Given the description of an element on the screen output the (x, y) to click on. 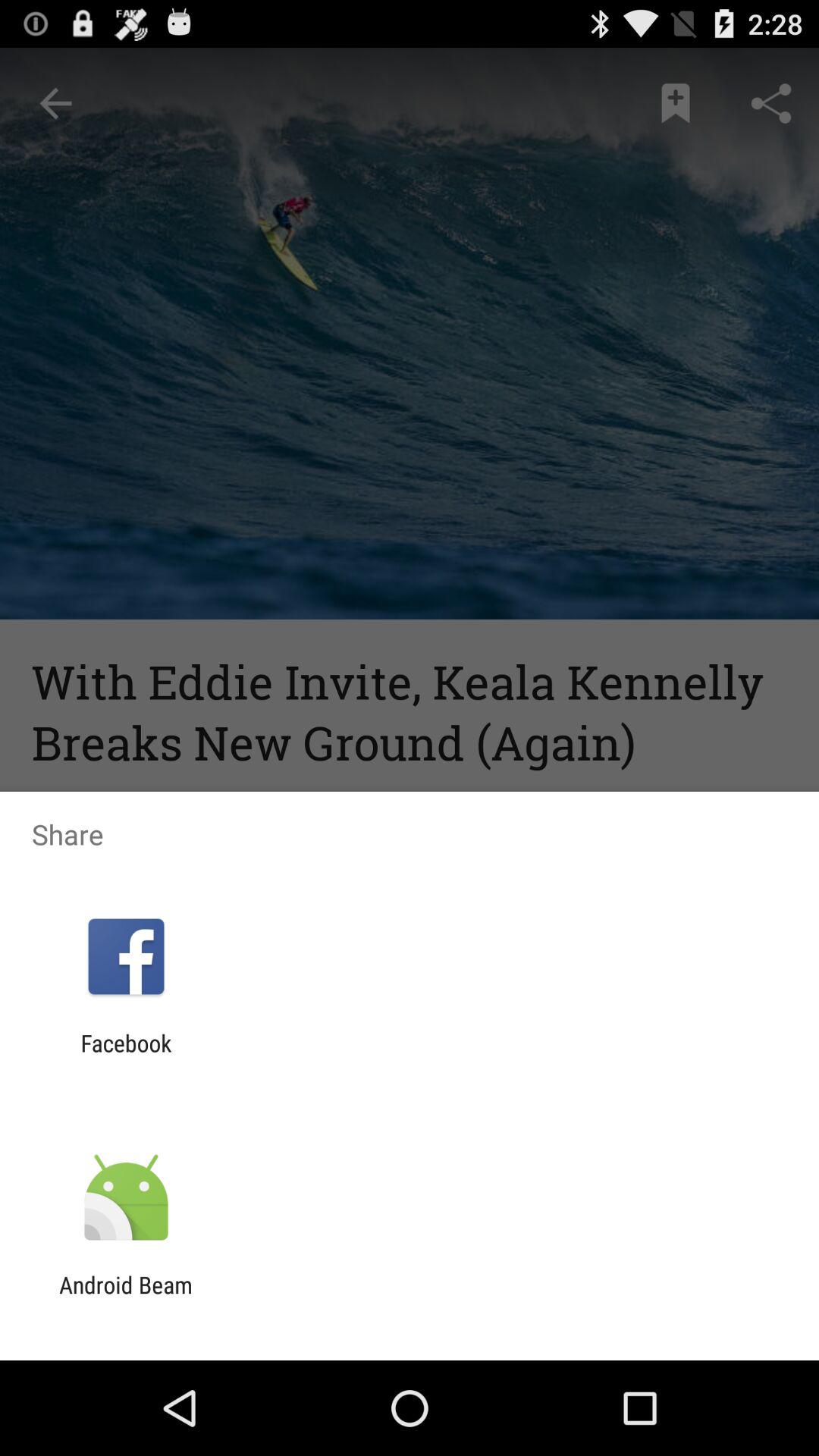
scroll until the android beam item (125, 1298)
